Given the description of an element on the screen output the (x, y) to click on. 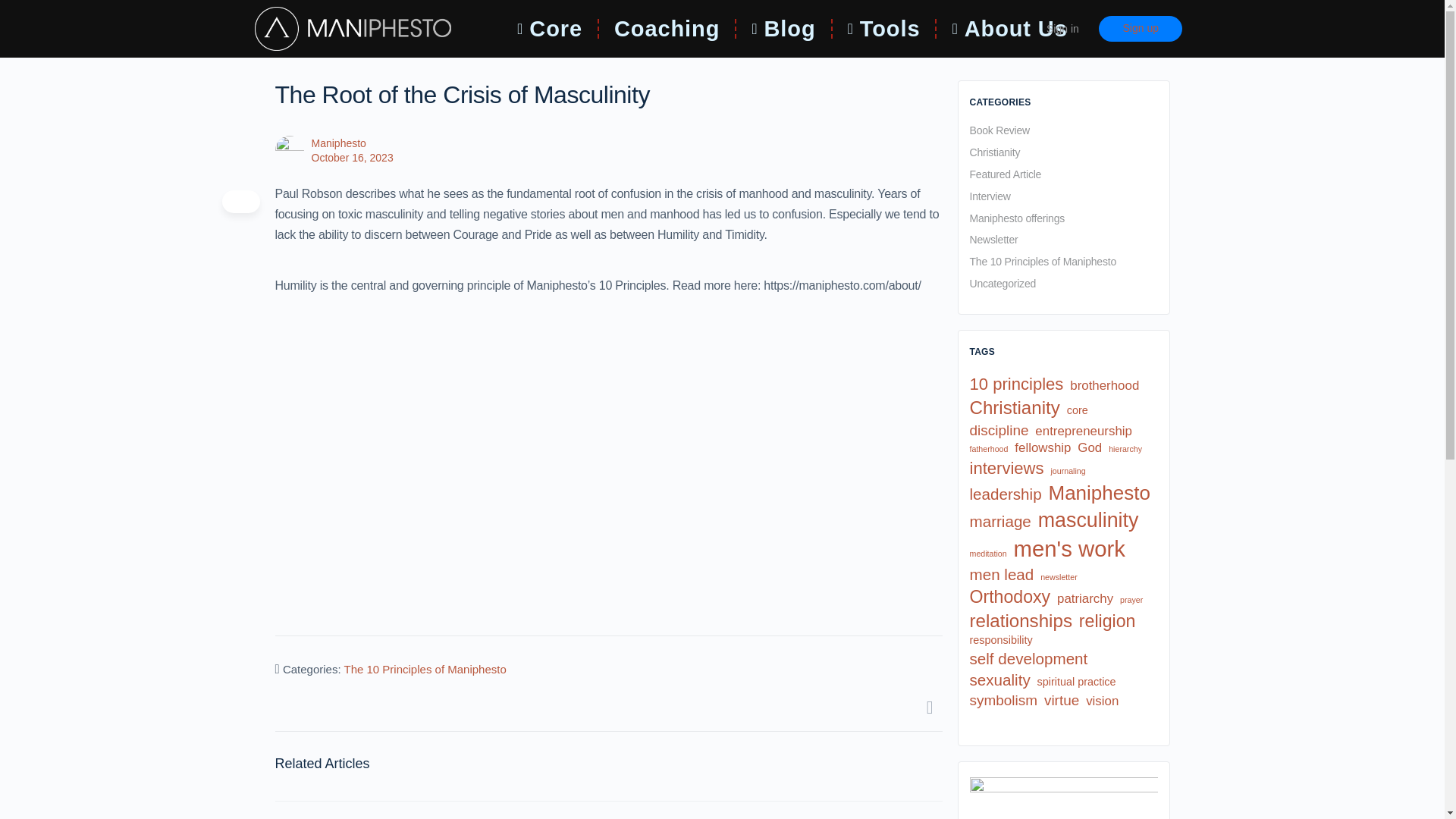
The Root of the Crisis of Masculinity (517, 461)
Core (549, 28)
Sign up (1140, 28)
Blog (782, 28)
About Us (1008, 28)
Sign in (1061, 28)
Tools (884, 28)
The 10 Principles of Maniphesto (424, 668)
October 16, 2023 (352, 157)
Coaching (666, 28)
